Given the description of an element on the screen output the (x, y) to click on. 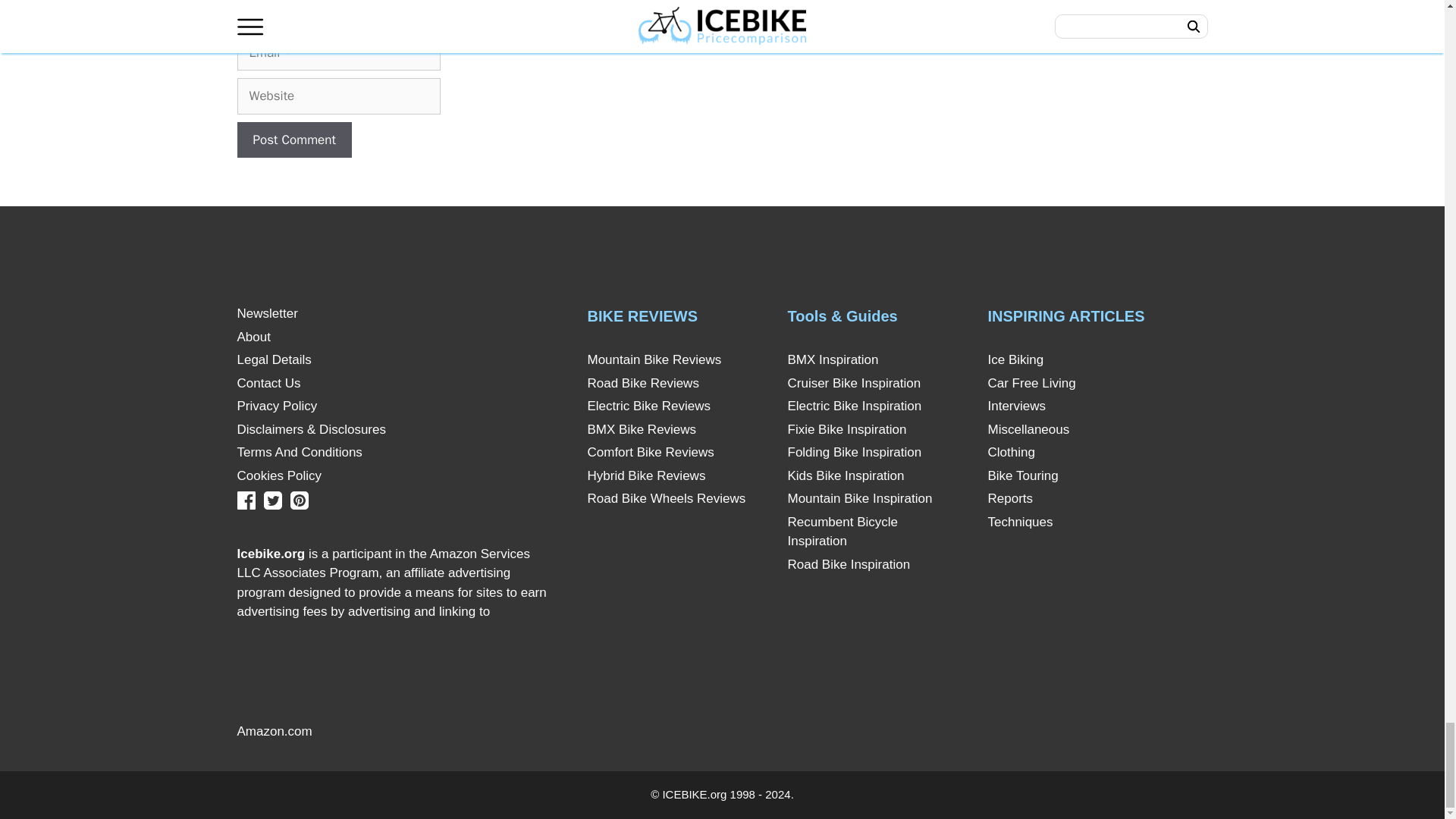
DMCA.com Protection Status (432, 730)
Post Comment (292, 140)
